Given the description of an element on the screen output the (x, y) to click on. 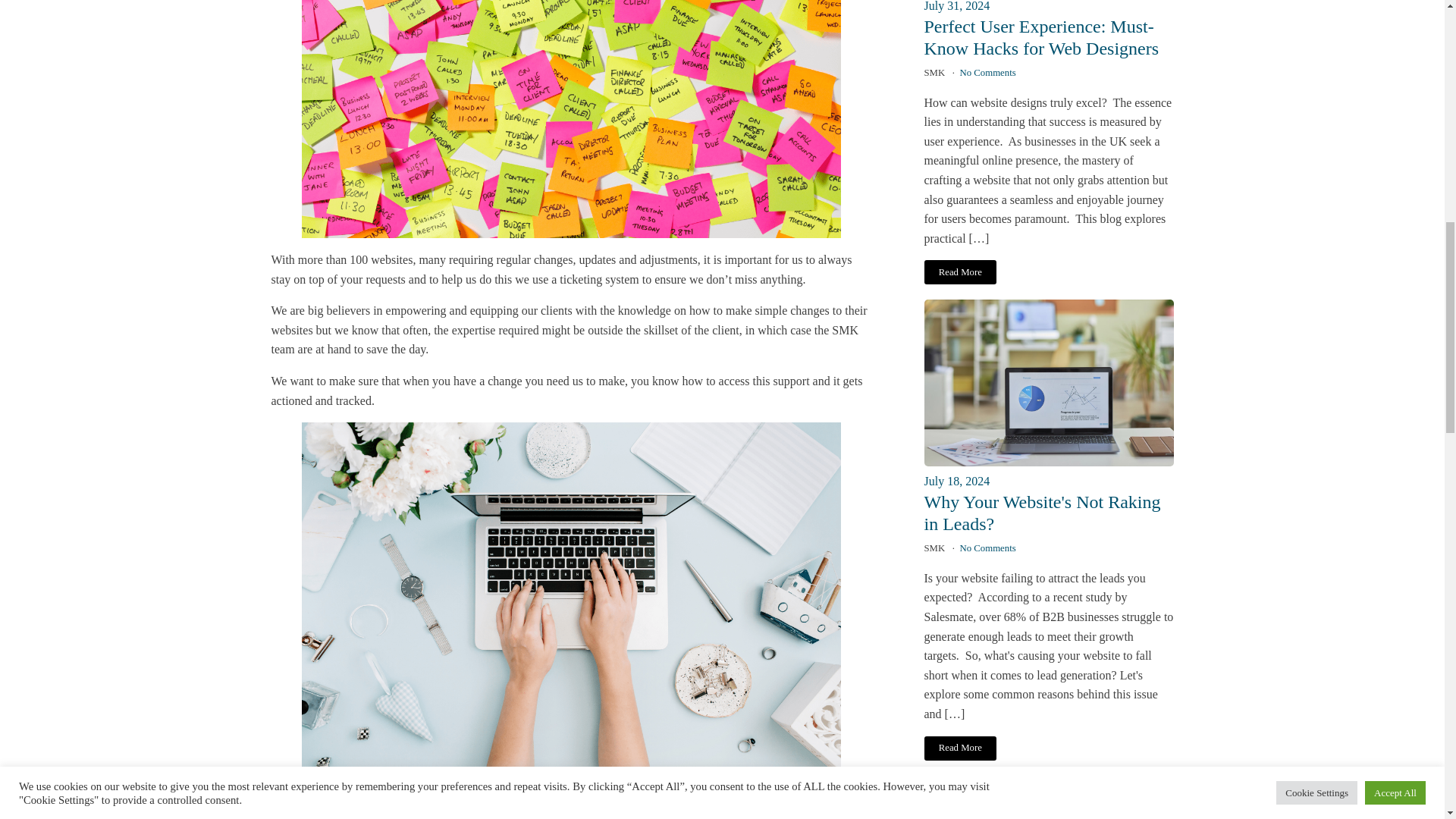
July 18, 2024 (1048, 482)
No Comments (986, 547)
July 31, 2024 (1048, 17)
No Comments (986, 72)
Perfect User Experience: Must-Know Hacks for Web Designers (1040, 37)
Read More (959, 748)
Read More (959, 272)
Why Your Website's Not Raking in Leads? (1041, 513)
